Given the description of an element on the screen output the (x, y) to click on. 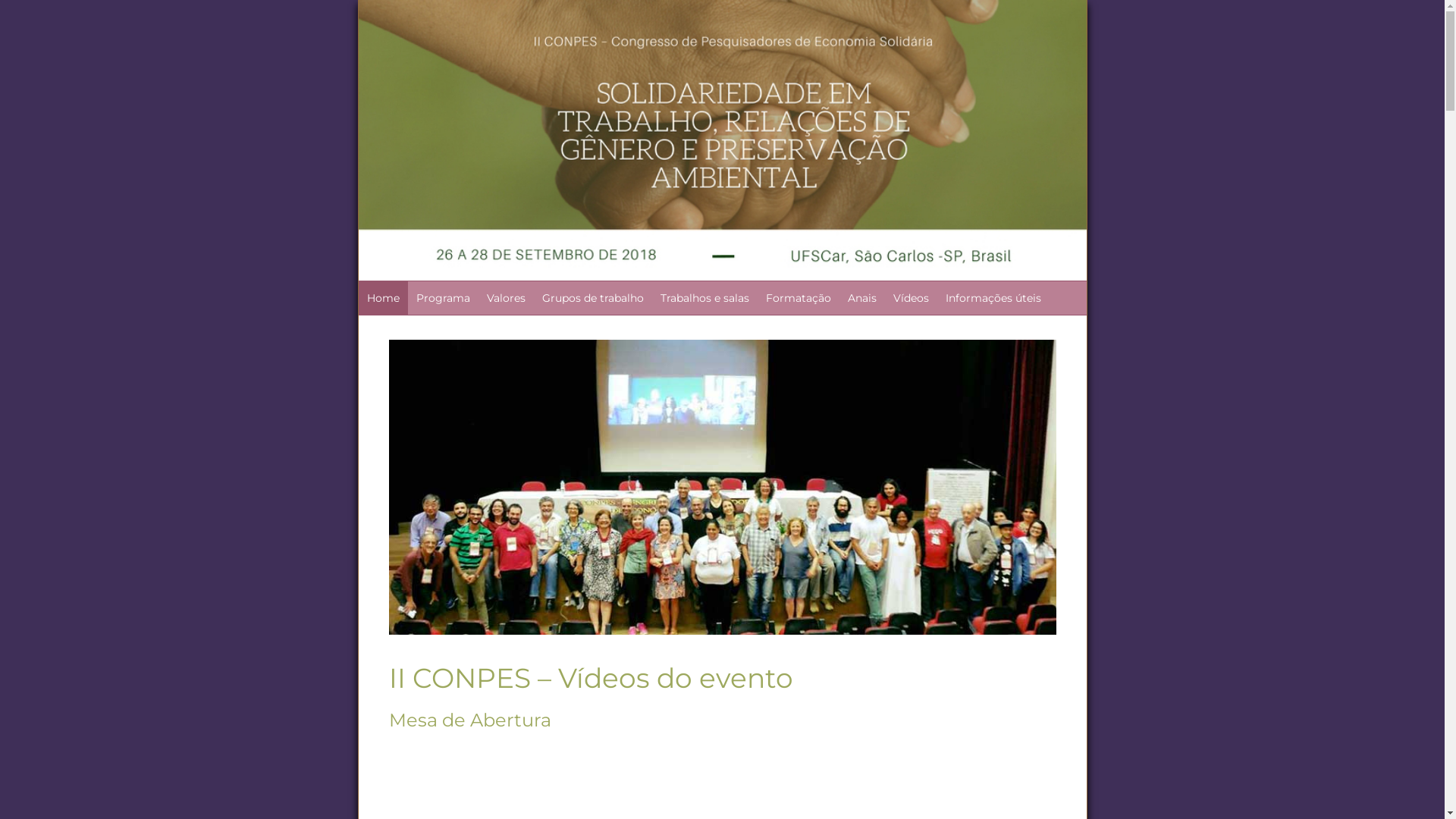
Home Element type: text (382, 297)
Programa Element type: text (442, 297)
Anais Element type: text (861, 297)
Grupos de trabalho Element type: text (592, 297)
Trabalhos e salas Element type: text (704, 297)
Valores Element type: text (505, 297)
